Given the description of an element on the screen output the (x, y) to click on. 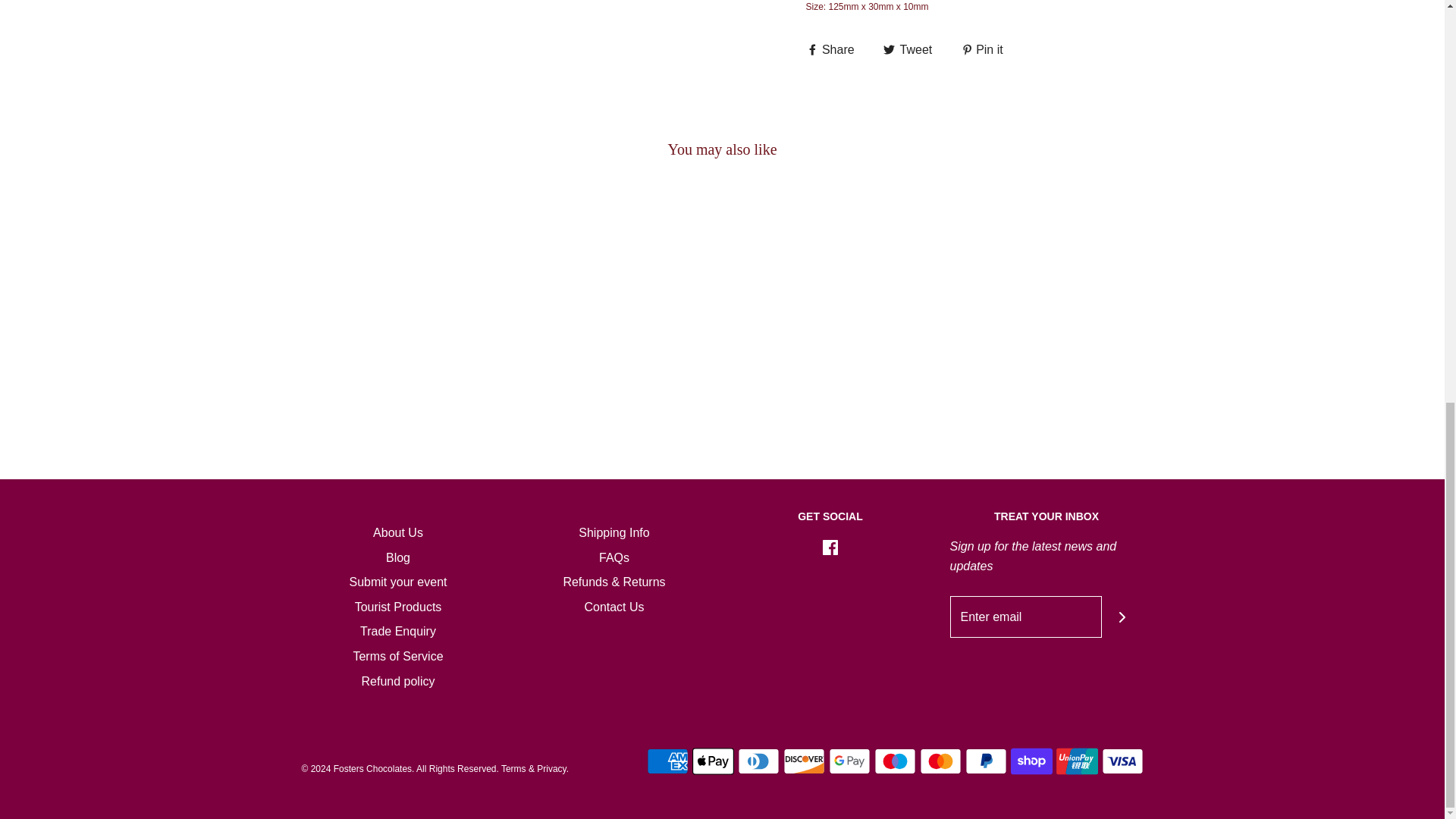
Facebook icon (830, 547)
Maestro (894, 761)
Shop Pay (1030, 761)
Pin it (981, 48)
Apple Pay (712, 761)
Mastercard (939, 761)
American Express (666, 761)
Share (832, 48)
Google Pay (848, 761)
PayPal (984, 761)
